Given the description of an element on the screen output the (x, y) to click on. 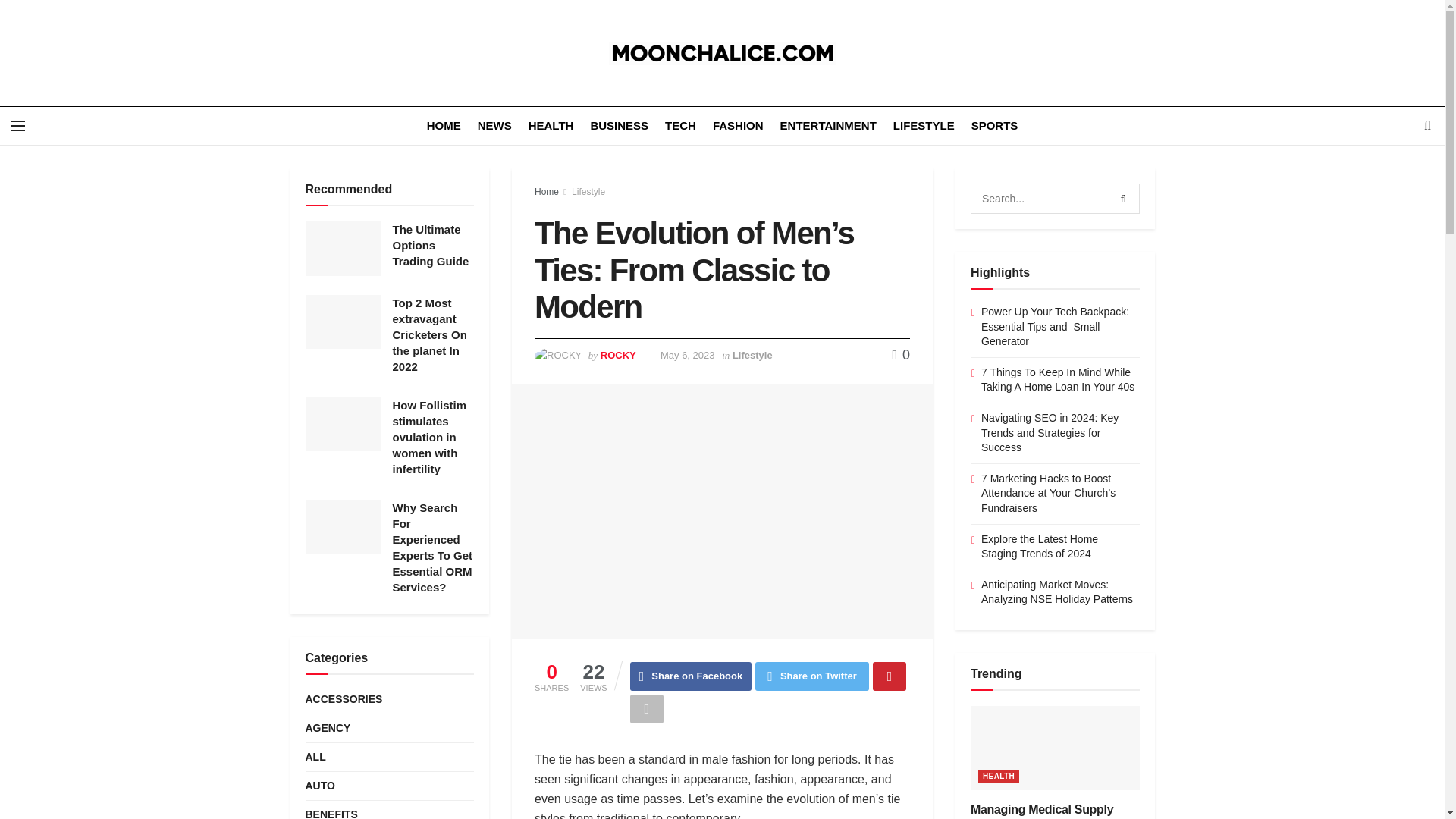
HEALTH (550, 125)
NEWS (494, 125)
Share on Facebook (691, 676)
SPORTS (994, 125)
HOME (443, 125)
ENTERTAINMENT (828, 125)
LIFESTYLE (924, 125)
0 (900, 354)
TECH (680, 125)
Lifestyle (588, 191)
